Given the description of an element on the screen output the (x, y) to click on. 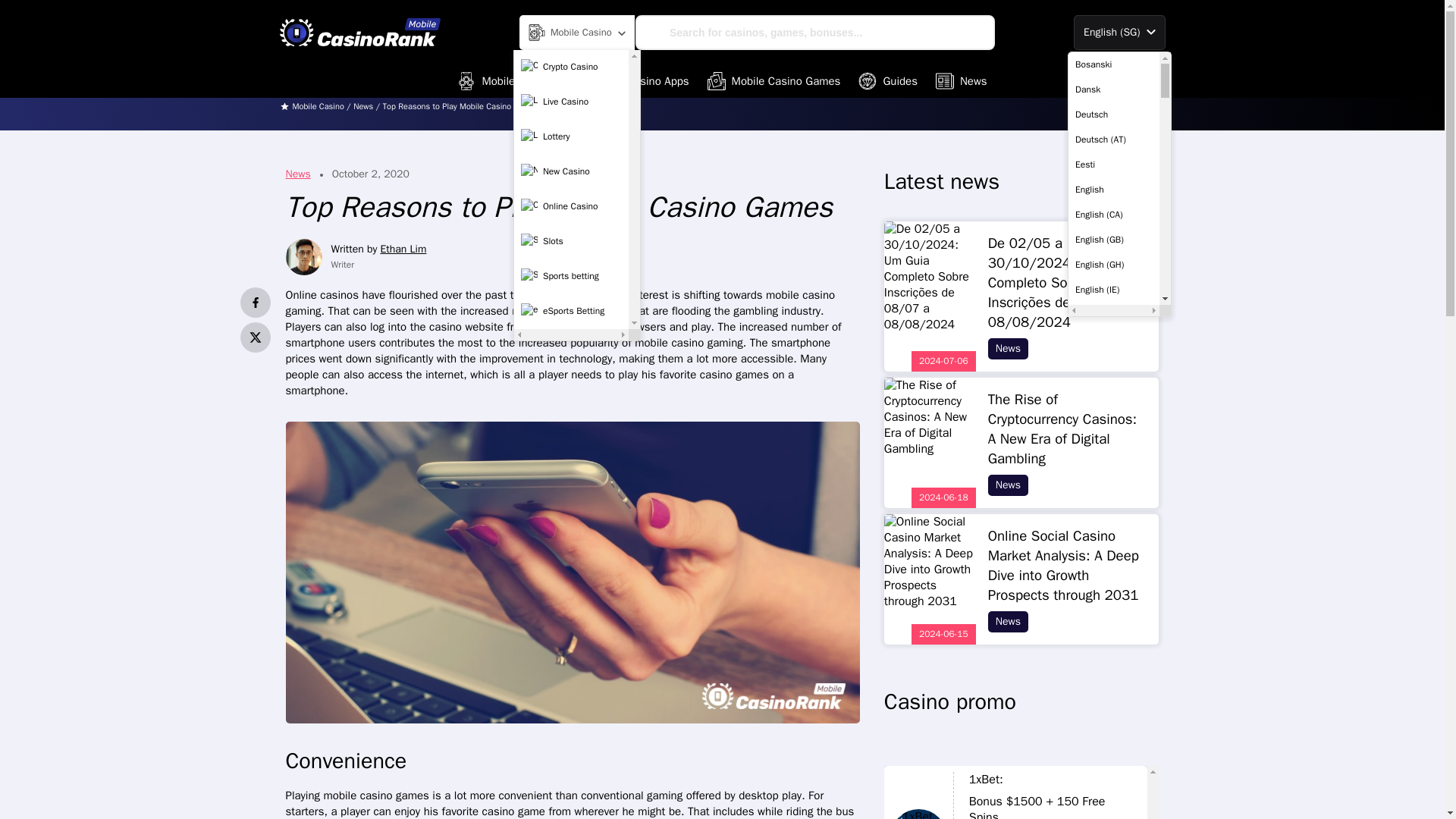
eSports Betting (571, 311)
Deutsch (1113, 113)
Lottery (571, 136)
New Casino (571, 172)
Online Casino (571, 206)
Sports betting (571, 276)
Eesti (1113, 163)
Slots (571, 241)
Bosanski (1113, 63)
Dansk (1113, 89)
Live Casino (571, 102)
English (1113, 189)
Crypto Casino (571, 67)
